Given the description of an element on the screen output the (x, y) to click on. 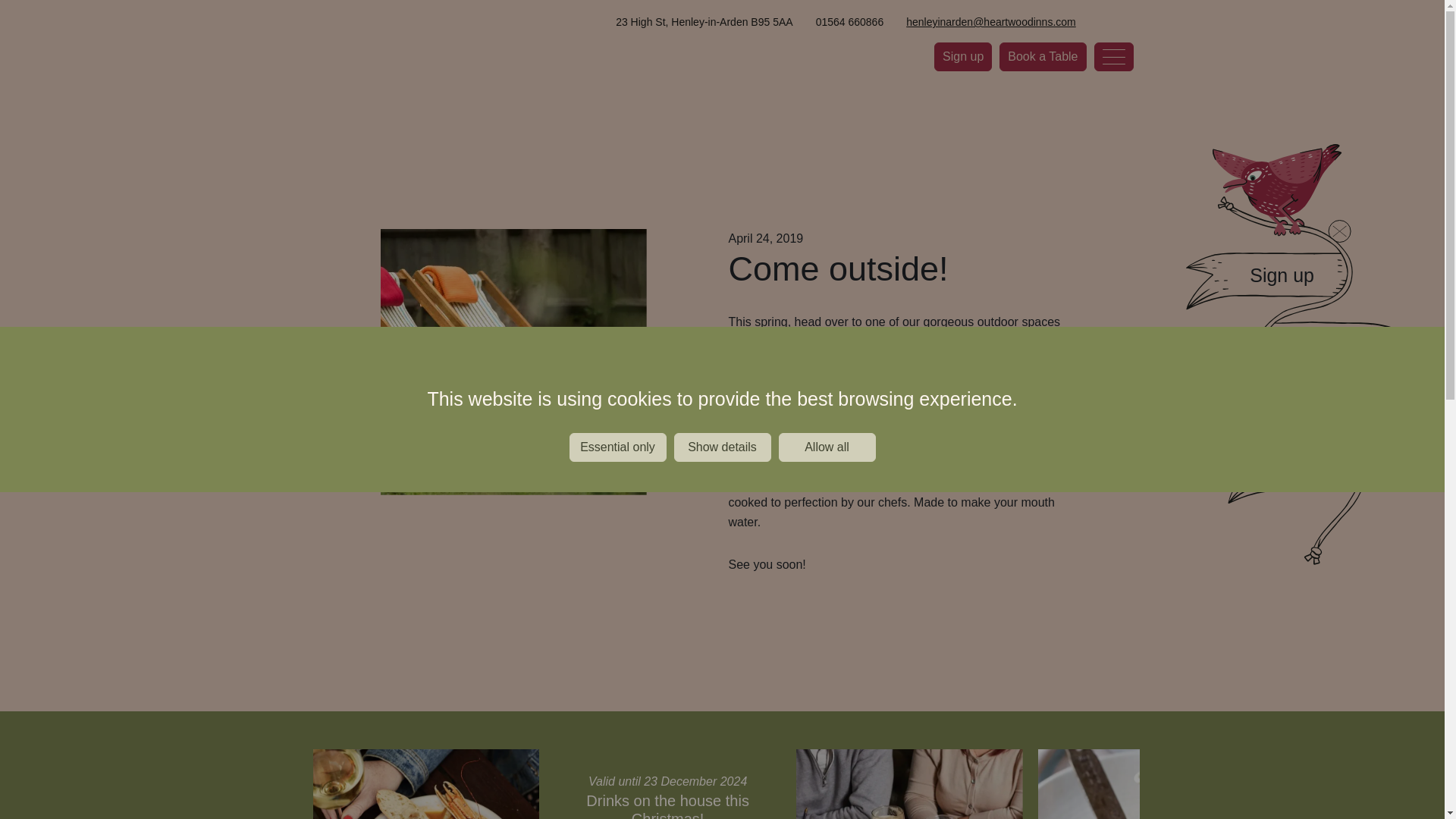
Allow all (826, 447)
Sign up (962, 56)
Book a Table (1042, 56)
Show details (721, 447)
Essential only (617, 447)
